Given the description of an element on the screen output the (x, y) to click on. 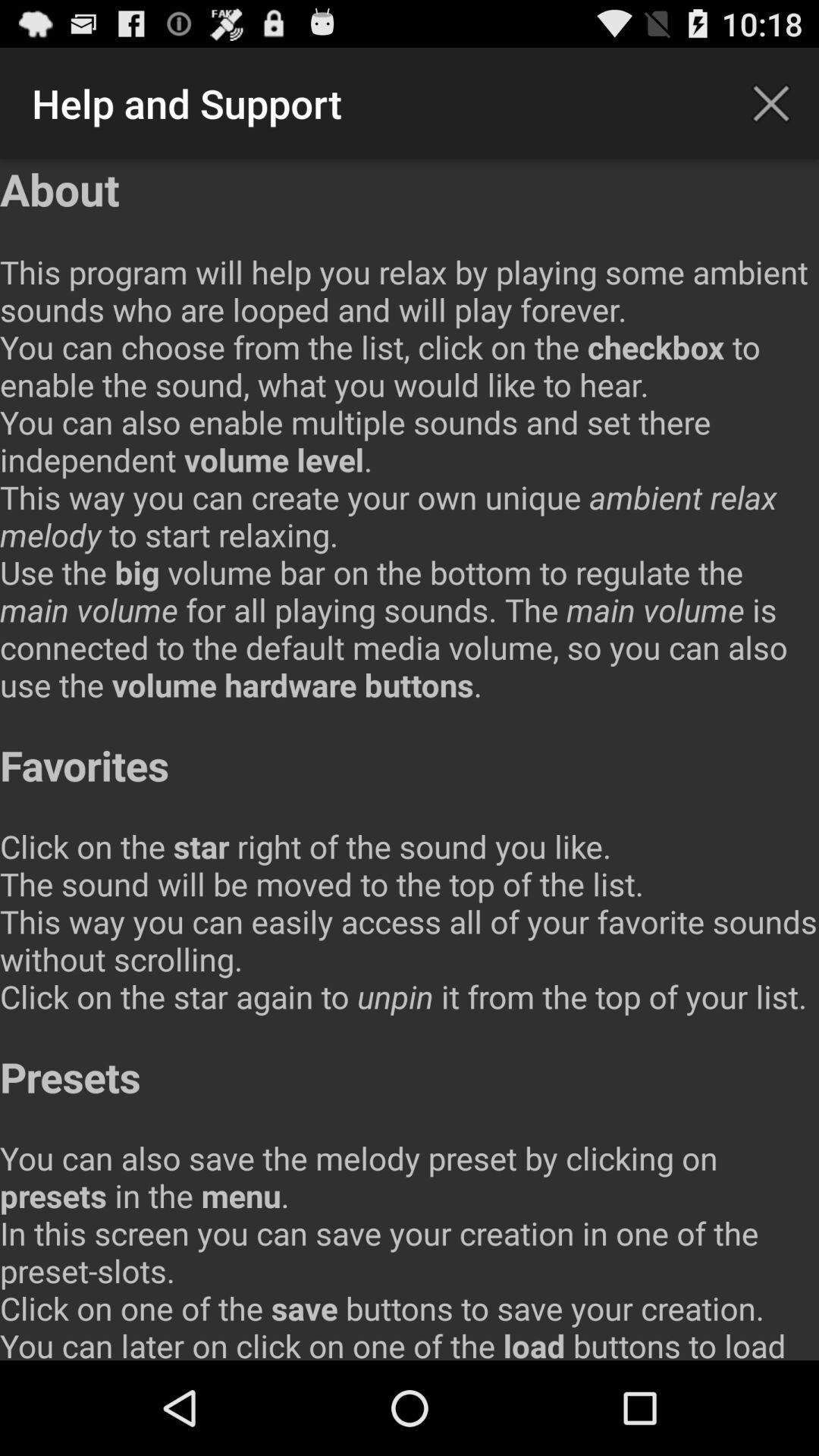
tap icon next to the help and support item (771, 103)
